Given the description of an element on the screen output the (x, y) to click on. 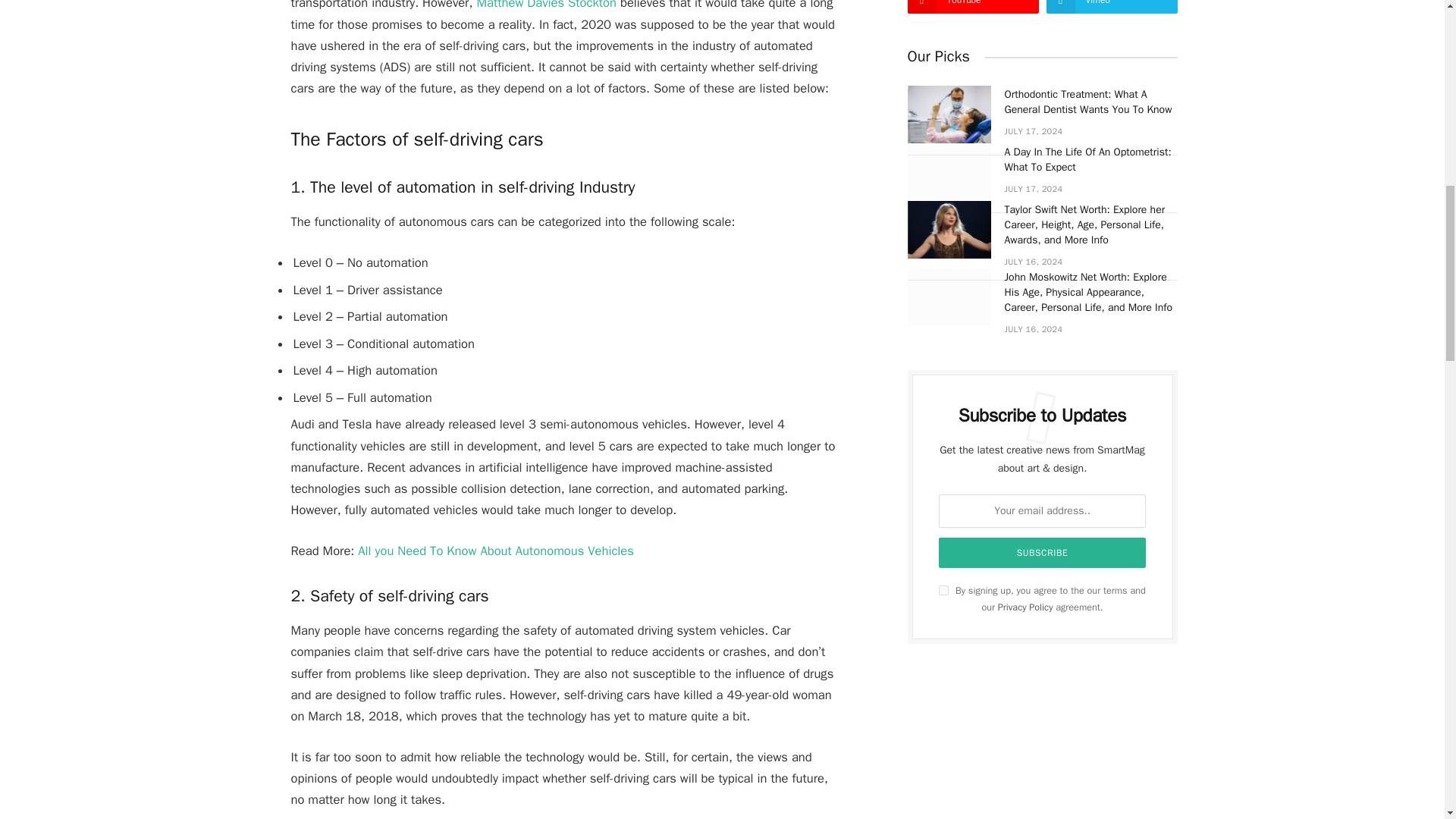
Subscribe (1043, 552)
on (944, 590)
